Given the description of an element on the screen output the (x, y) to click on. 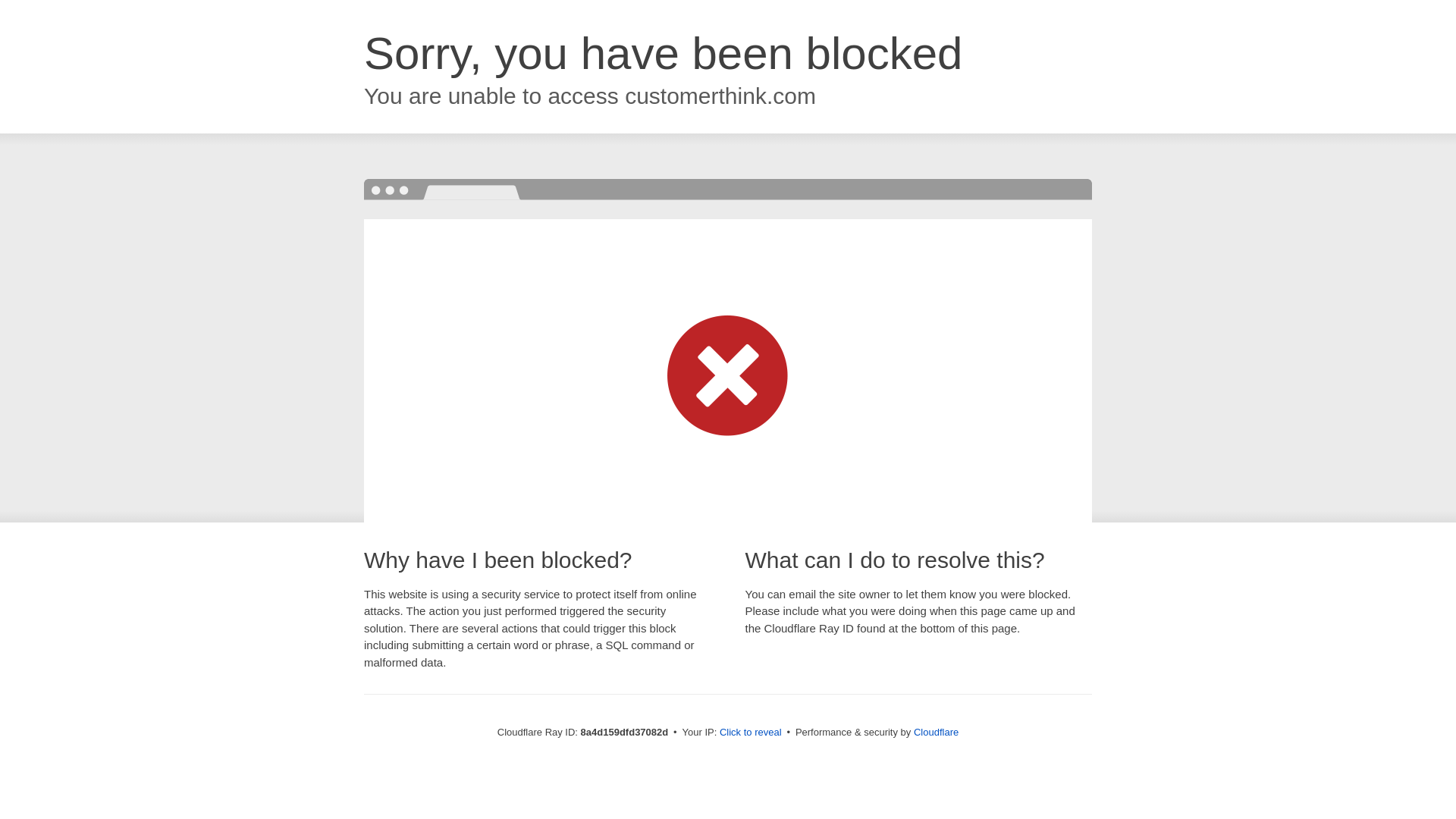
Cloudflare (936, 731)
Click to reveal (750, 732)
